Given the description of an element on the screen output the (x, y) to click on. 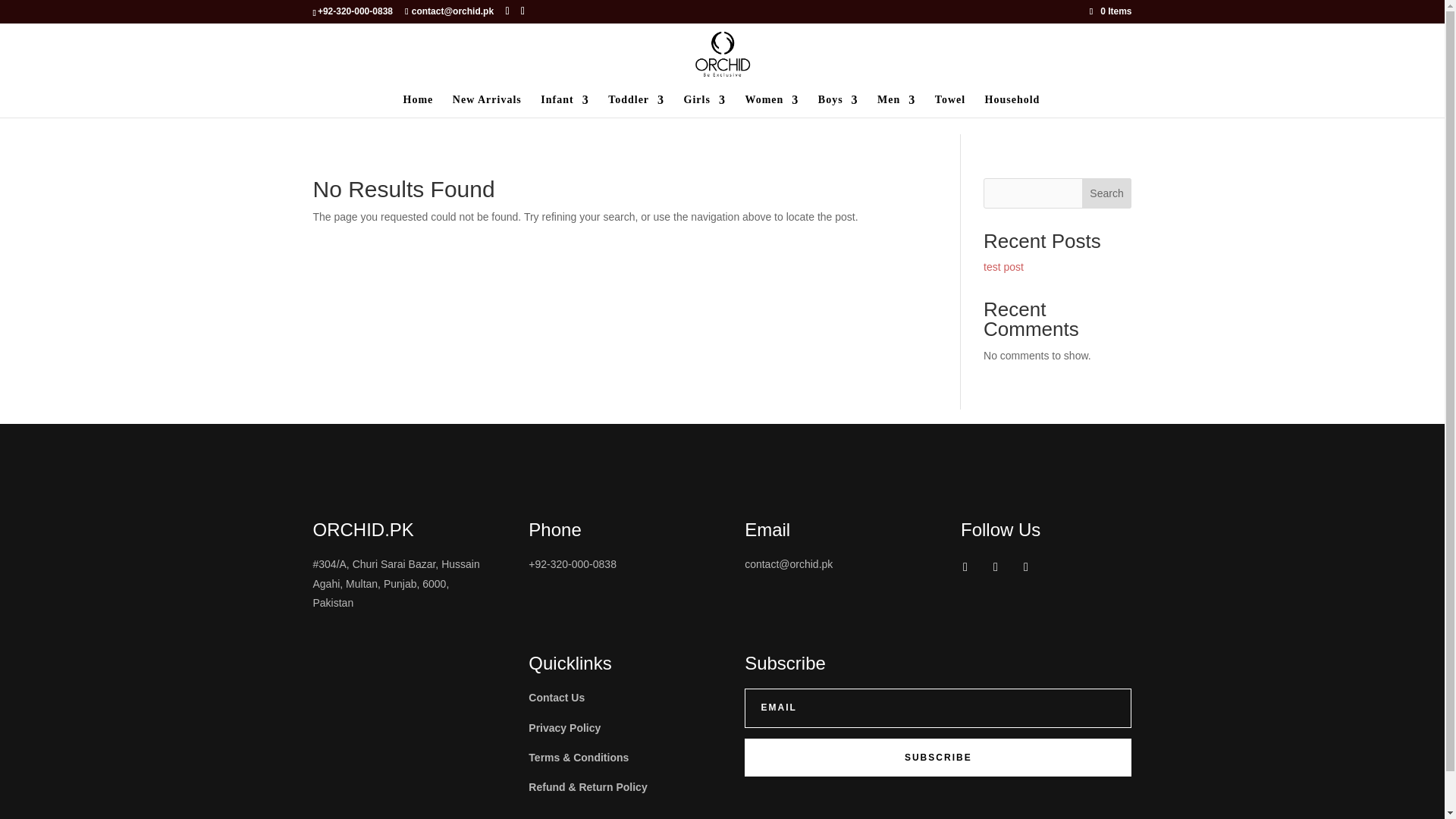
Toddler (635, 106)
New Arrivals (486, 106)
Home (418, 106)
0 Items (1110, 10)
Follow on Facebook (964, 567)
Follow on Youtube (1025, 567)
Contact Us (556, 697)
Follow on Instagram (995, 567)
Privacy Policy (563, 727)
Infant (564, 106)
